Given the description of an element on the screen output the (x, y) to click on. 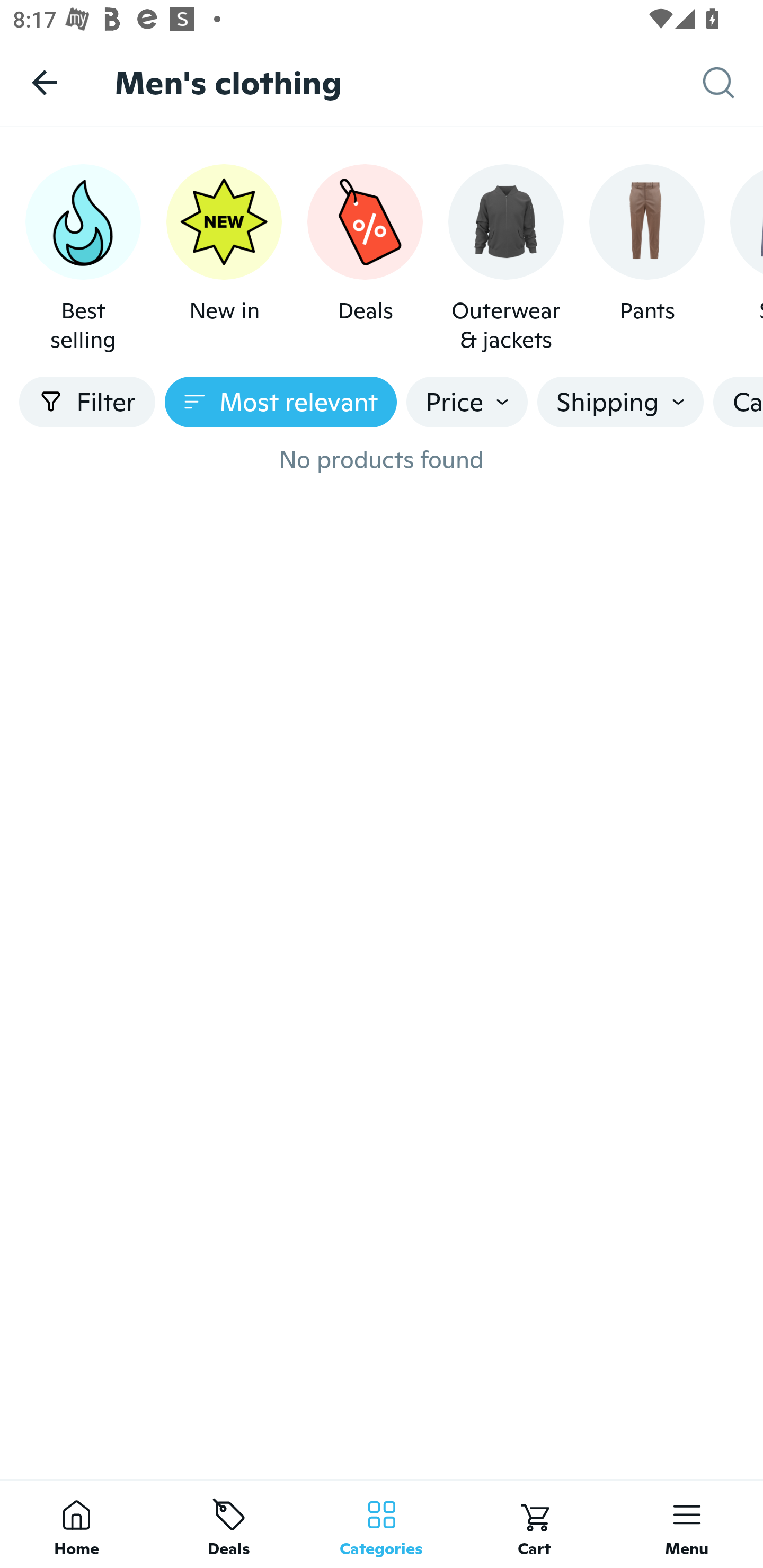
Navigate up (44, 82)
Search (732, 82)
Best selling (83, 259)
New in (223, 259)
Deals (364, 259)
Outerwear & jackets (505, 259)
Pants (647, 259)
Filter (86, 402)
Most relevant (280, 402)
Price (466, 402)
Shipping (620, 402)
Home (76, 1523)
Deals (228, 1523)
Categories (381, 1523)
Cart (533, 1523)
Menu (686, 1523)
